Given the description of an element on the screen output the (x, y) to click on. 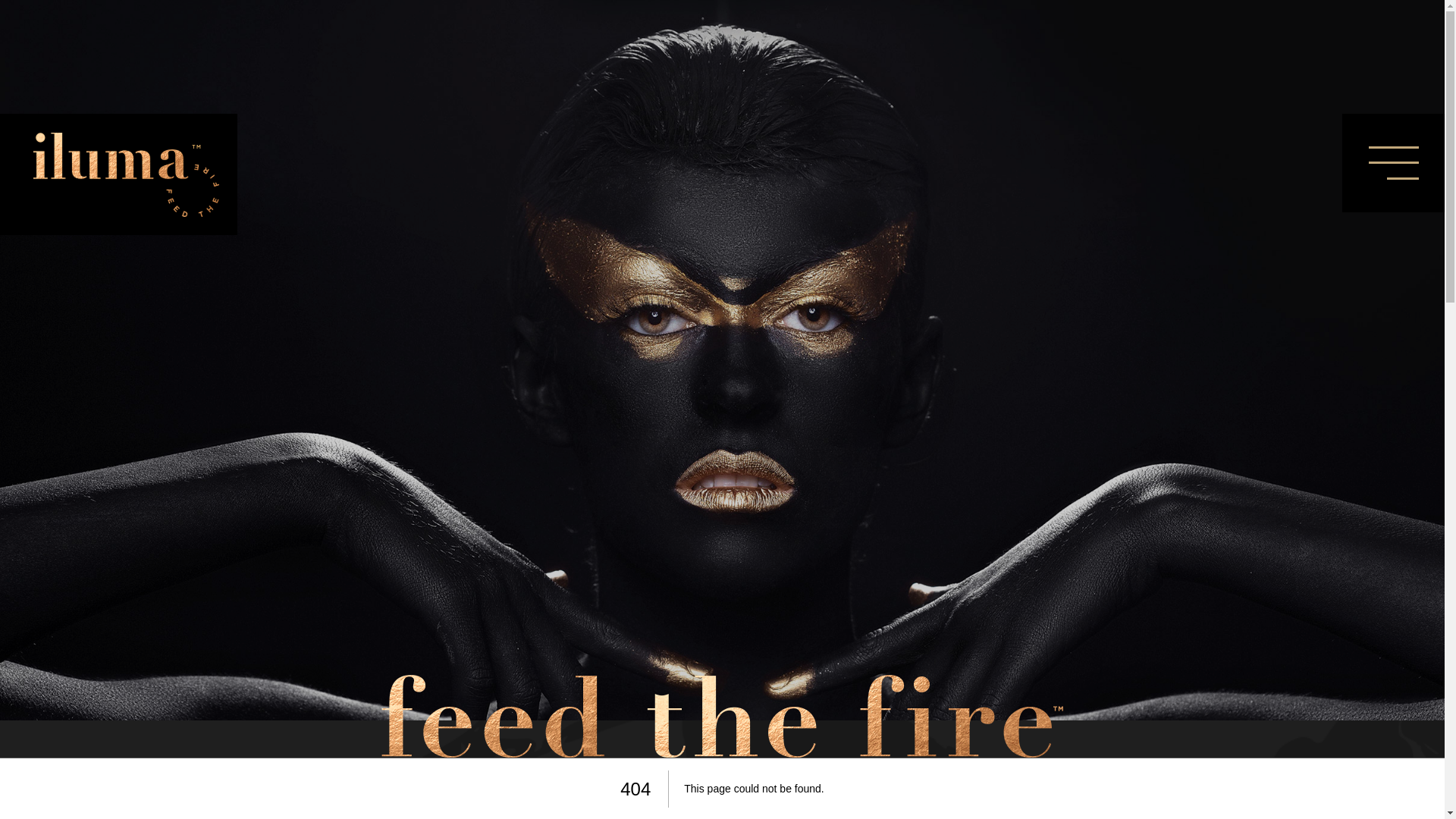
Menu Element type: text (1393, 162)
